Given the description of an element on the screen output the (x, y) to click on. 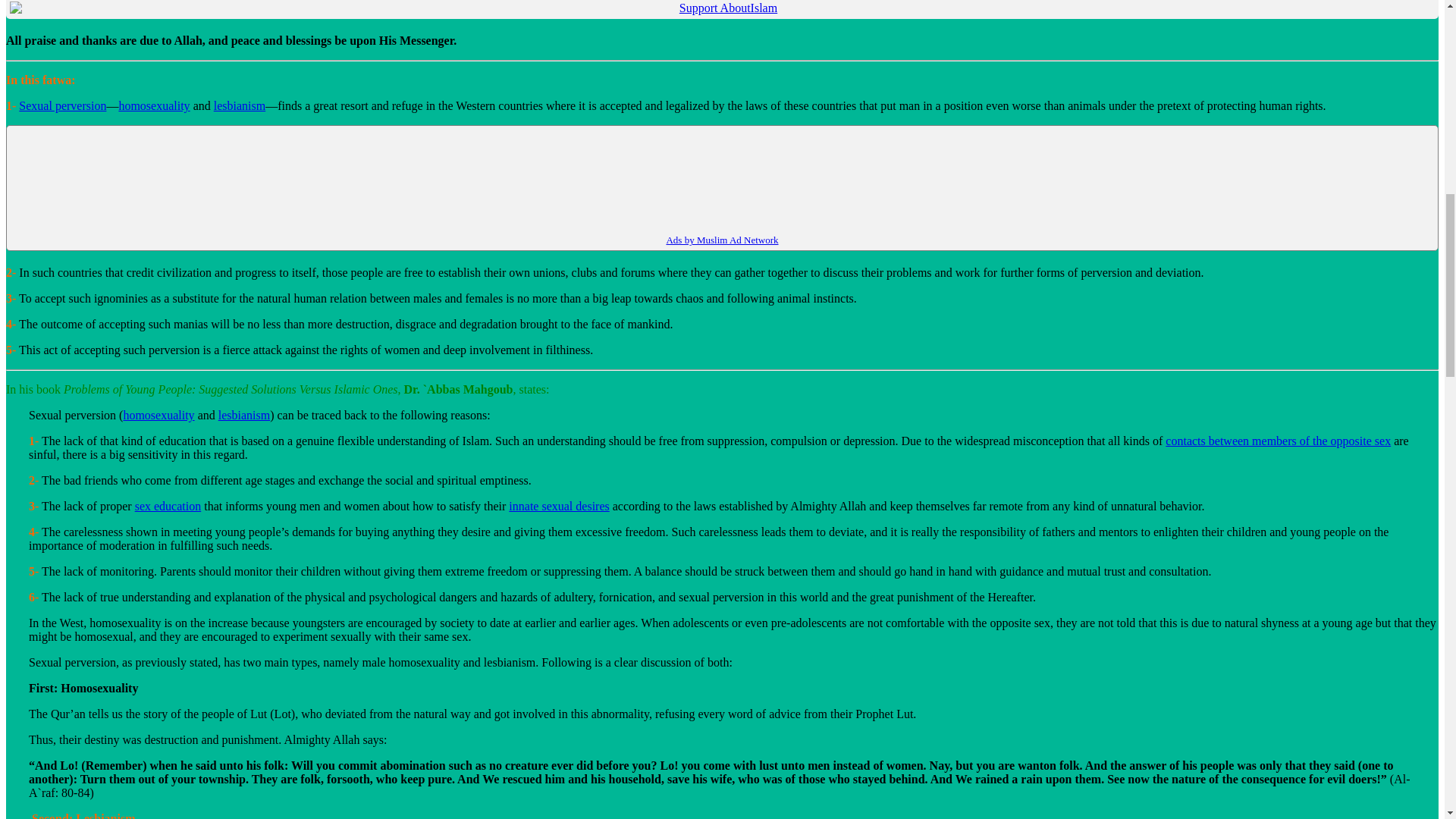
lesbianism (243, 414)
lesbianism (239, 105)
homosexuality (153, 105)
Advertise and Market to Muslims (721, 239)
Ads by Muslim Ad Network (721, 239)
sex education (168, 505)
contacts between members of the opposite sex (1278, 440)
innate sexual desires (558, 505)
homosexuality (157, 414)
Sexual perversion (62, 105)
